Given the description of an element on the screen output the (x, y) to click on. 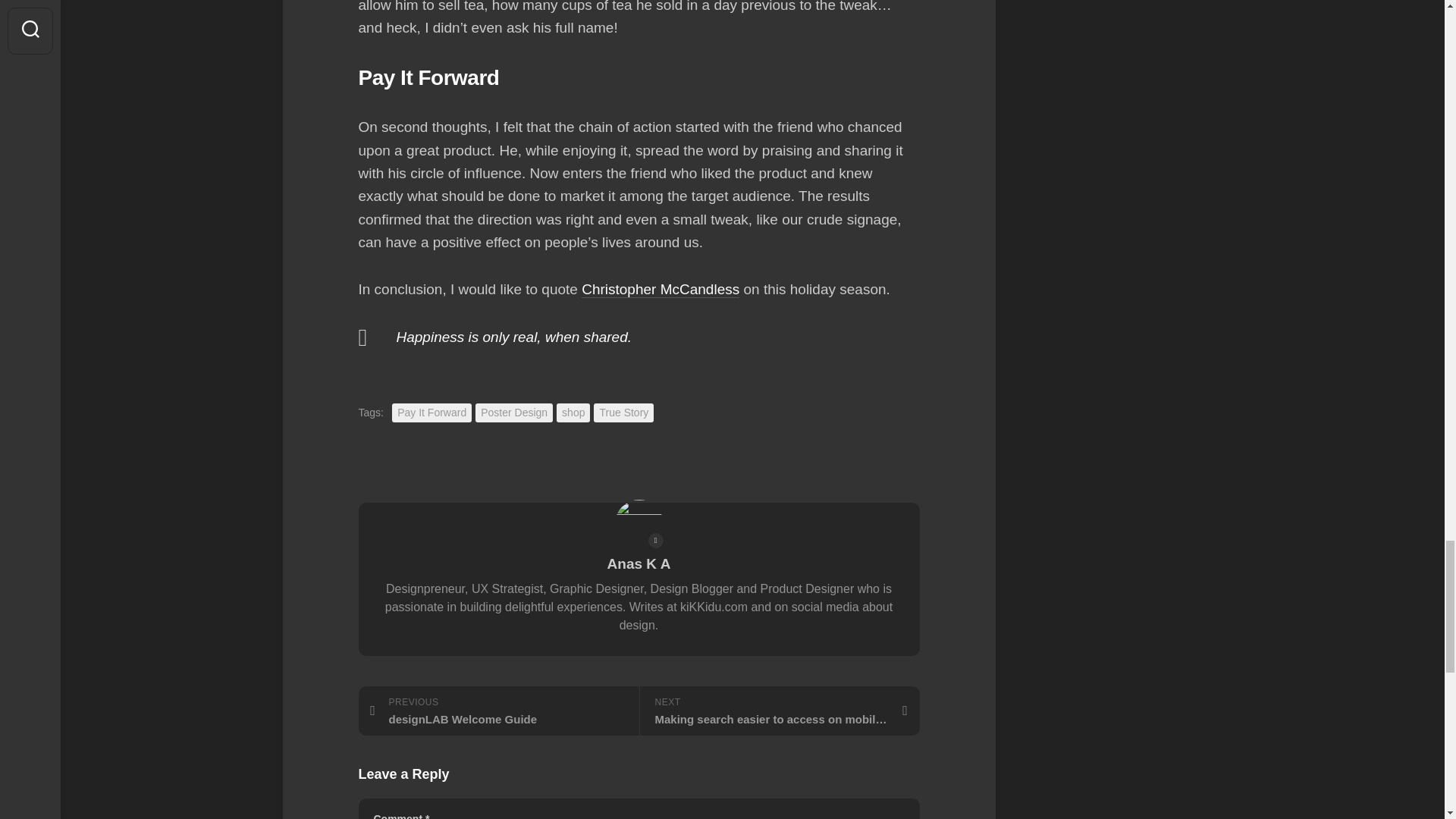
Pay It Forward (431, 412)
Christopher McCandless (659, 289)
Poster Design (498, 710)
True Story (778, 710)
shop (514, 412)
